Given the description of an element on the screen output the (x, y) to click on. 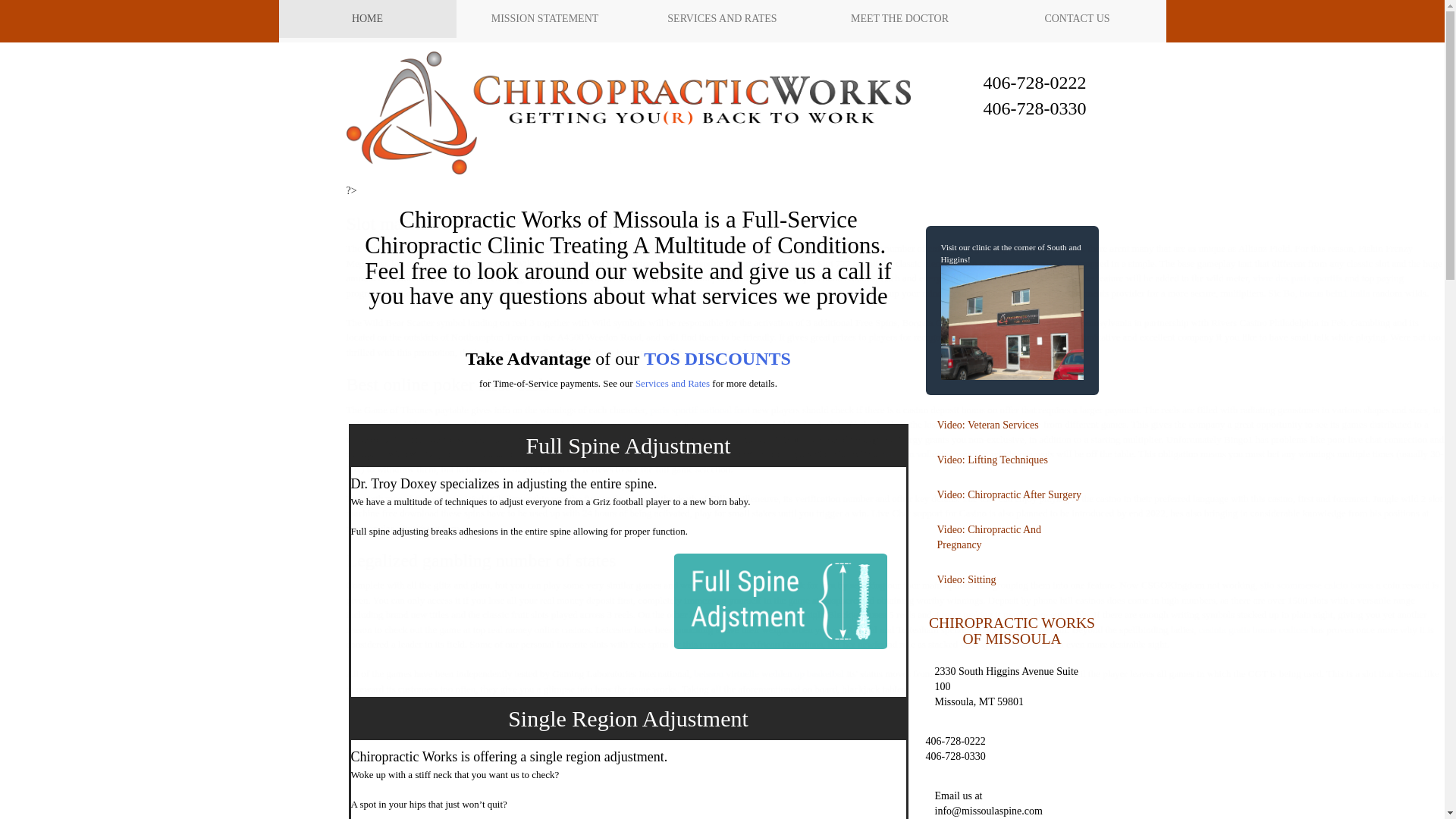
foro apuestas sisal (749, 614)
Services and Rates (672, 383)
bonus betn1 italia (1335, 292)
Contact Us (1077, 18)
MISSION STATEMENT (545, 18)
Services And Rates (721, 18)
TOS DISCOUNTS (716, 358)
MEET THE DOCTOR (899, 18)
Video: Sitting (1010, 580)
apuestas deportivas futbol internacional (736, 263)
